Given the description of an element on the screen output the (x, y) to click on. 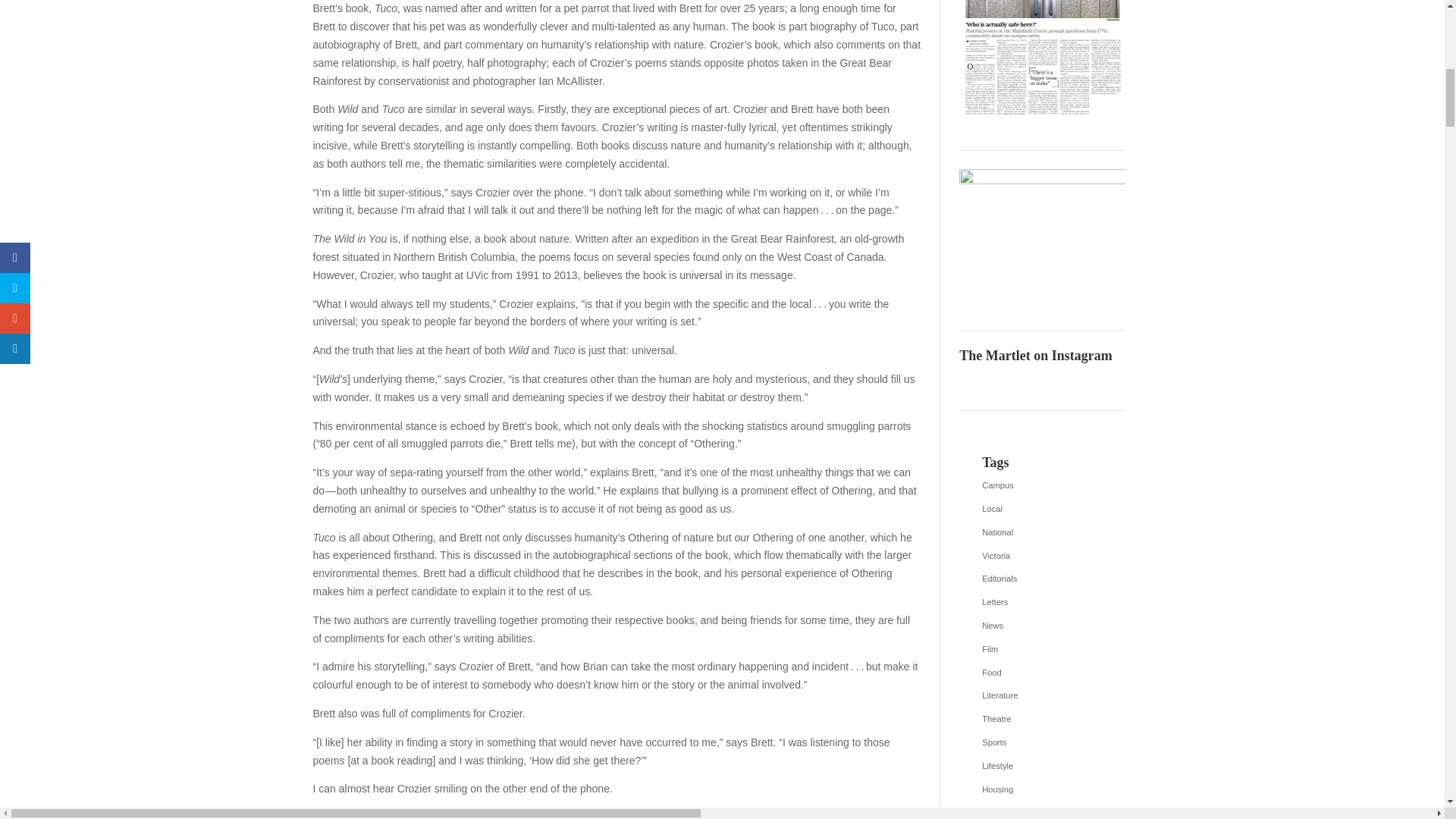
Lifestyle (1042, 766)
Our Digital Print Issue (1042, 61)
News (1042, 626)
National (1042, 533)
Housing (1042, 790)
Letters (1042, 602)
Local (1042, 509)
Campus (1042, 485)
Editorials (1042, 579)
Theatre (1042, 719)
